Given the description of an element on the screen output the (x, y) to click on. 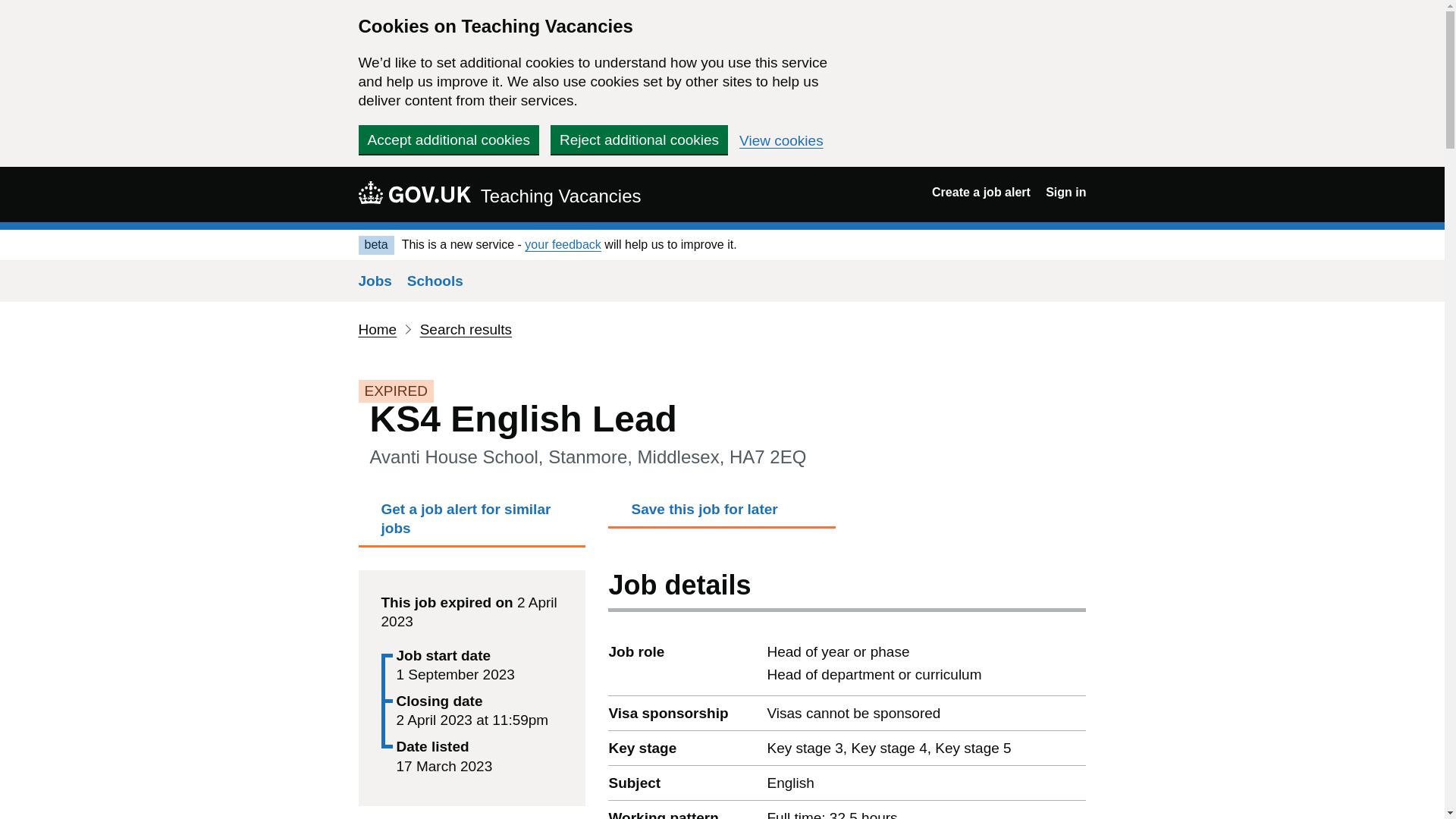
Accept additional cookies (448, 139)
Create a job alert (980, 192)
Save this job for later (721, 513)
your feedback (562, 244)
Home (377, 329)
GOV.UK (414, 191)
View cookies (781, 140)
GOV.UK Teaching Vacancies (499, 194)
Reject additional cookies (639, 139)
Get a job alert for similar jobs (471, 522)
